Given the description of an element on the screen output the (x, y) to click on. 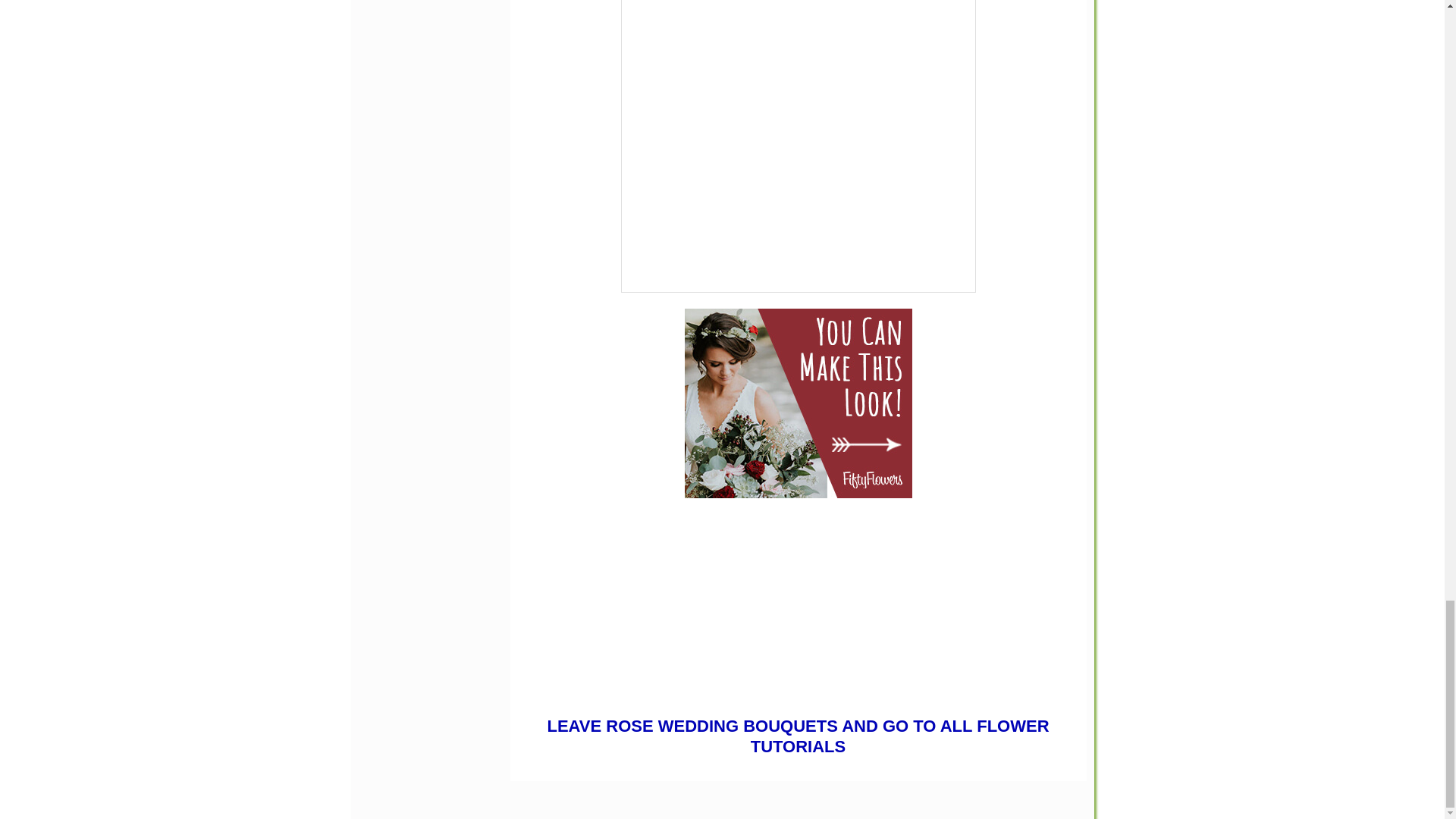
Go to Rose Wedding Bouquets - Easy DIY Flower Tutorials (797, 694)
LEAVE ROSE WEDDING BOUQUETS AND GO TO ALL FLOWER TUTORIALS (797, 736)
